Given the description of an element on the screen output the (x, y) to click on. 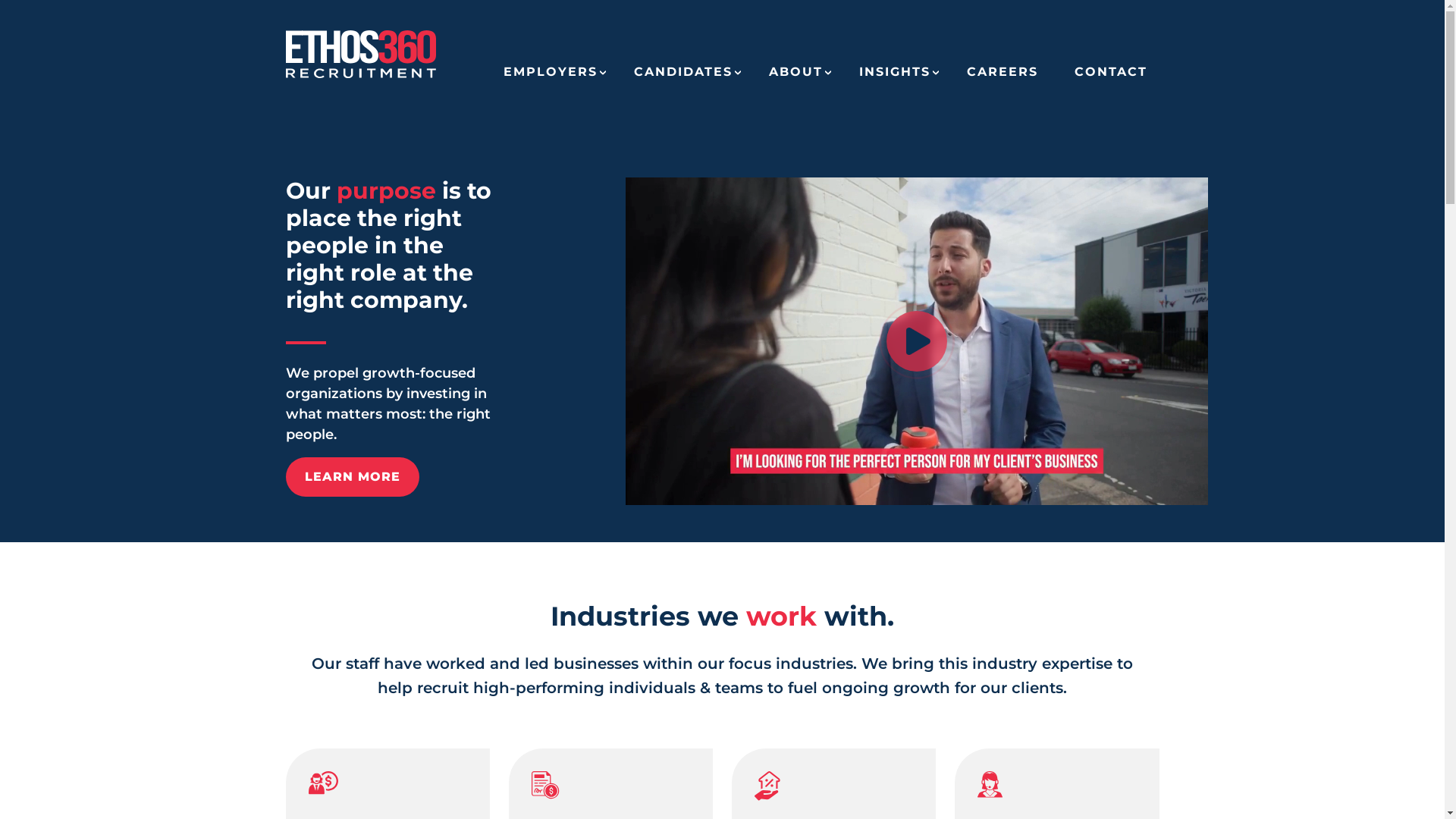
CONTACT Element type: text (1109, 77)
CAREERS Element type: text (1001, 77)
ABOUT Element type: text (795, 77)
LEARN MORE Element type: text (351, 476)
CANDIDATES Element type: text (682, 77)
EMPLOYERS Element type: text (550, 77)
INSIGHTS Element type: text (893, 77)
